Given the description of an element on the screen output the (x, y) to click on. 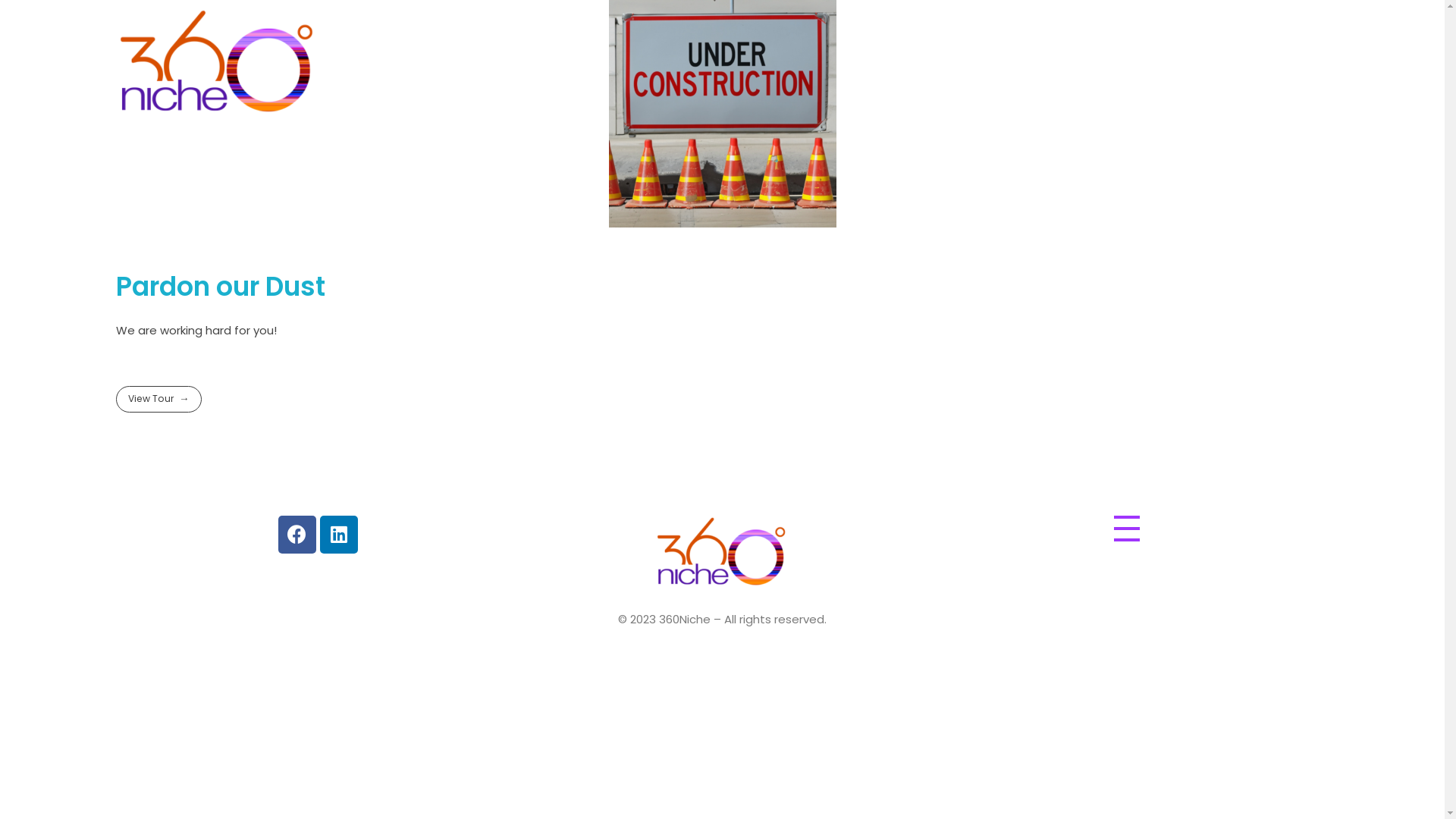
HOME Element type: text (870, 61)
Pardon our Dust Element type: text (219, 286)
View Tour Element type: text (158, 398)
ABOUT ME Element type: text (941, 61)
WHAT I OFFER Element type: text (1122, 61)
360Niche Element type: text (151, 128)
360Niche Element type: text (689, 598)
PORTFOLIO Element type: text (1026, 61)
360Niche Element type: hover (722, 553)
360Niche Element type: hover (217, 64)
CONTACT Element type: text (1286, 61)
PRICING Element type: text (1208, 61)
